Given the description of an element on the screen output the (x, y) to click on. 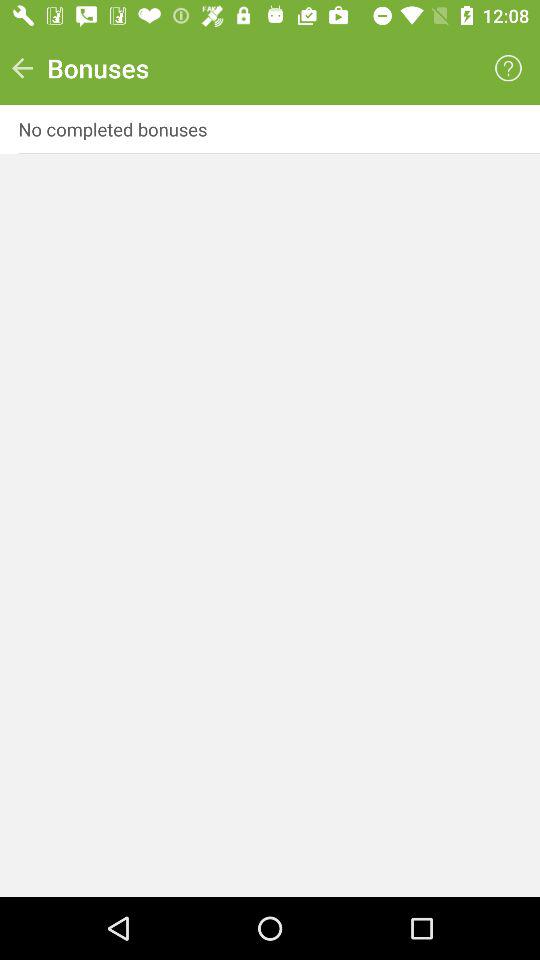
turn off the item to the right of bonuses item (508, 67)
